Given the description of an element on the screen output the (x, y) to click on. 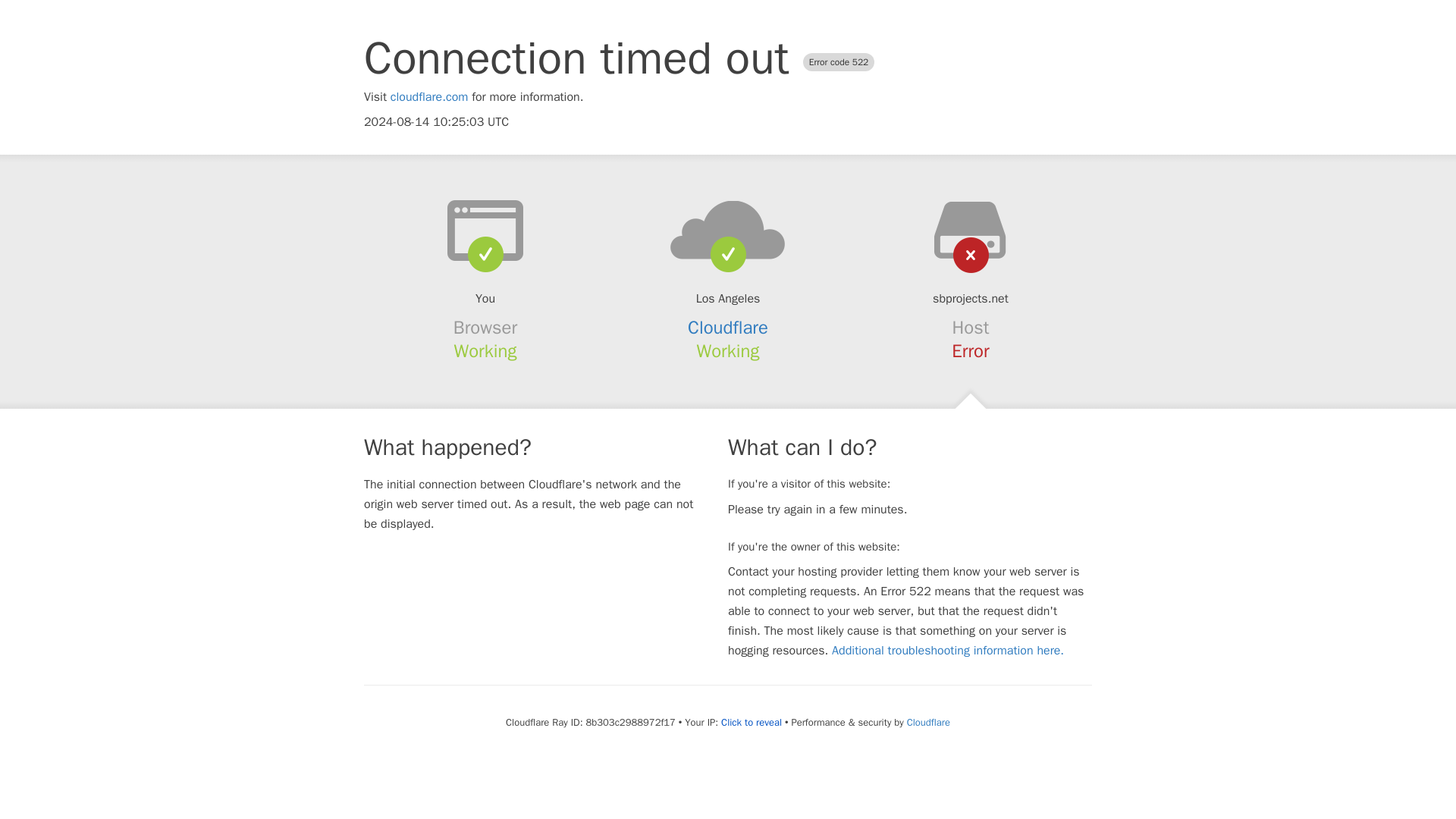
Cloudflare (727, 327)
Cloudflare (928, 721)
Click to reveal (750, 722)
cloudflare.com (429, 96)
Additional troubleshooting information here. (947, 650)
